Given the description of an element on the screen output the (x, y) to click on. 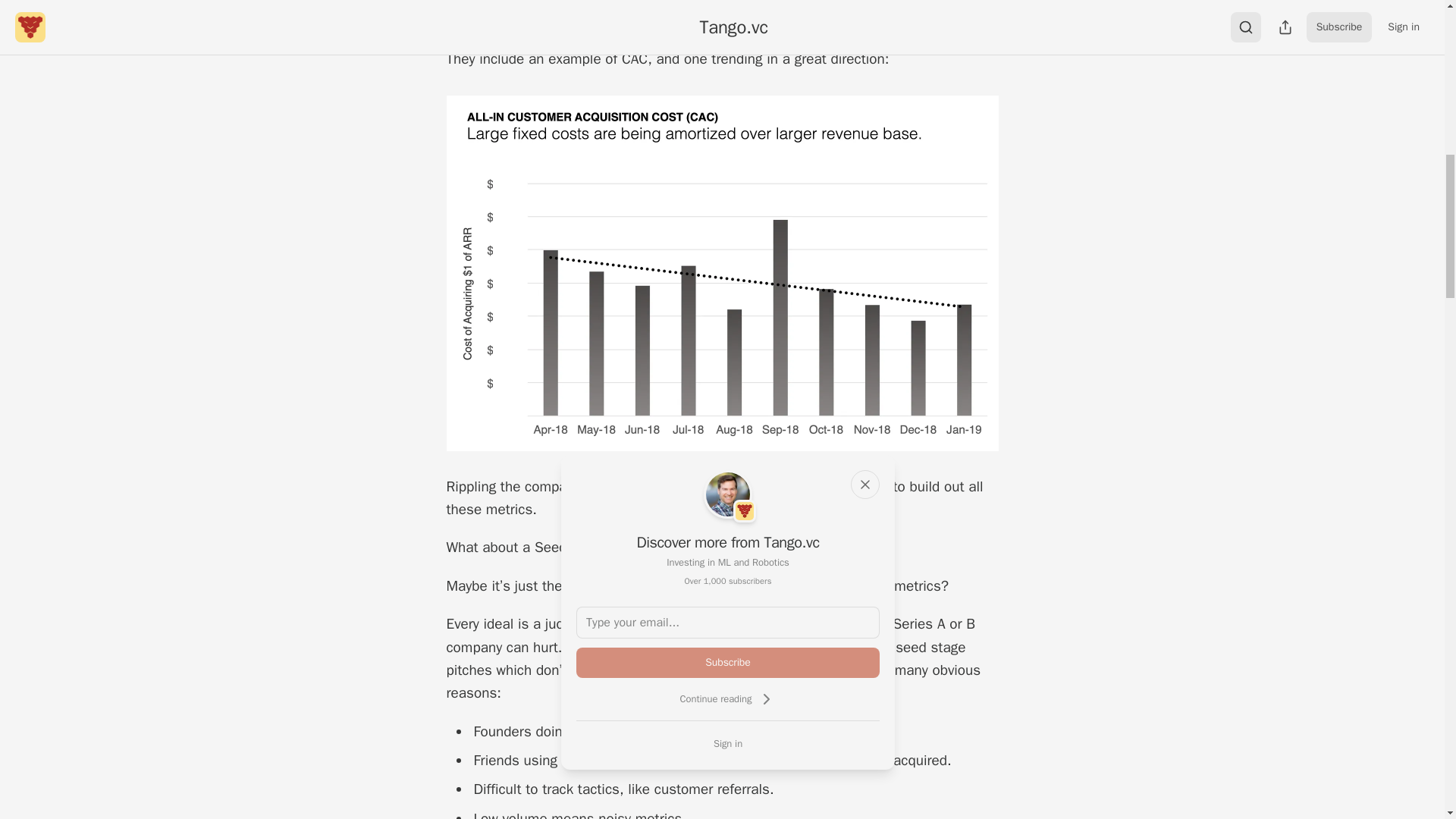
Subscribe (727, 662)
Go here and download it. (715, 14)
Sign in (727, 743)
